Given the description of an element on the screen output the (x, y) to click on. 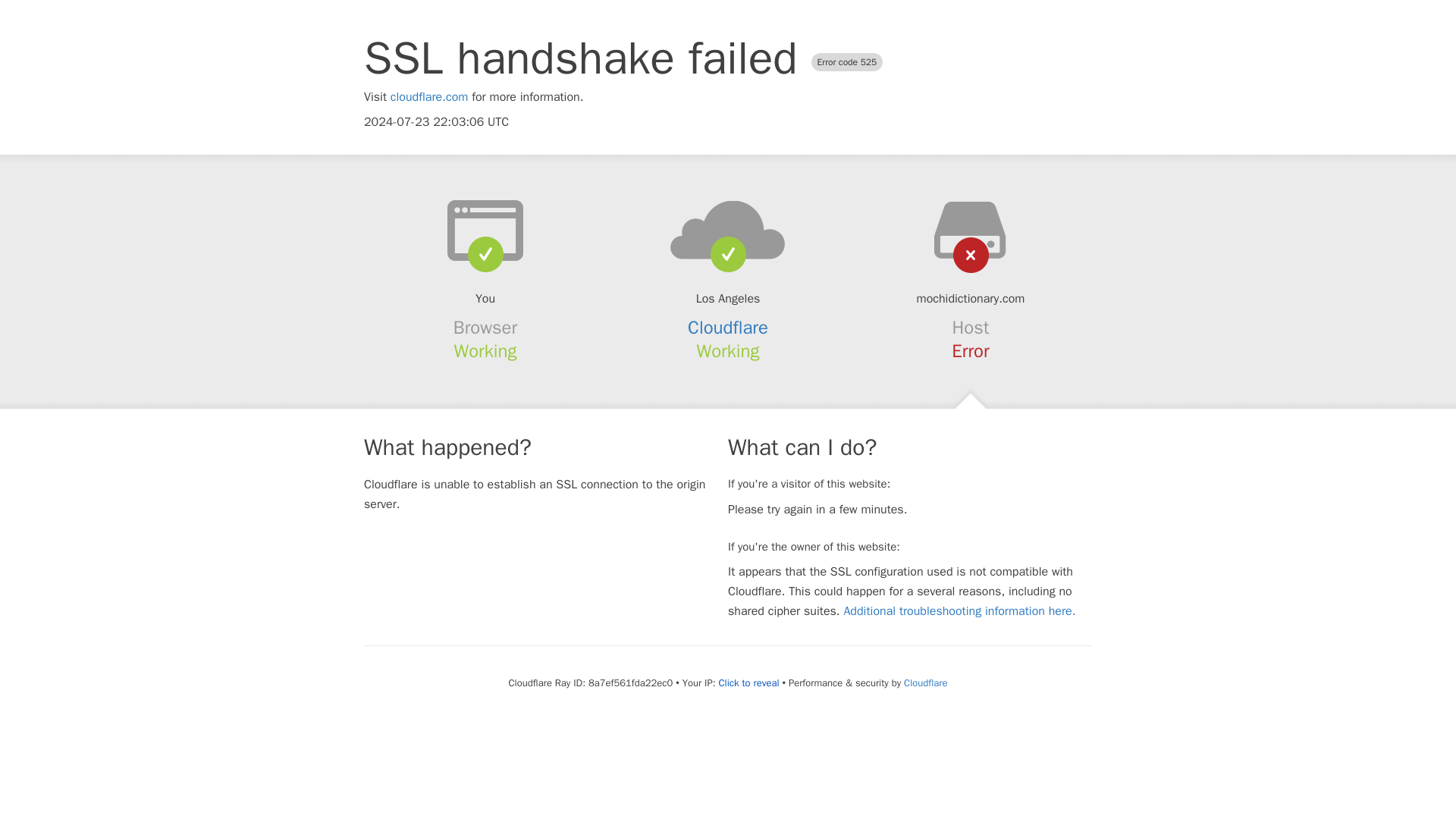
cloudflare.com (429, 96)
Cloudflare (925, 682)
Click to reveal (748, 683)
Additional troubleshooting information here. (959, 611)
Cloudflare (727, 327)
